Given the description of an element on the screen output the (x, y) to click on. 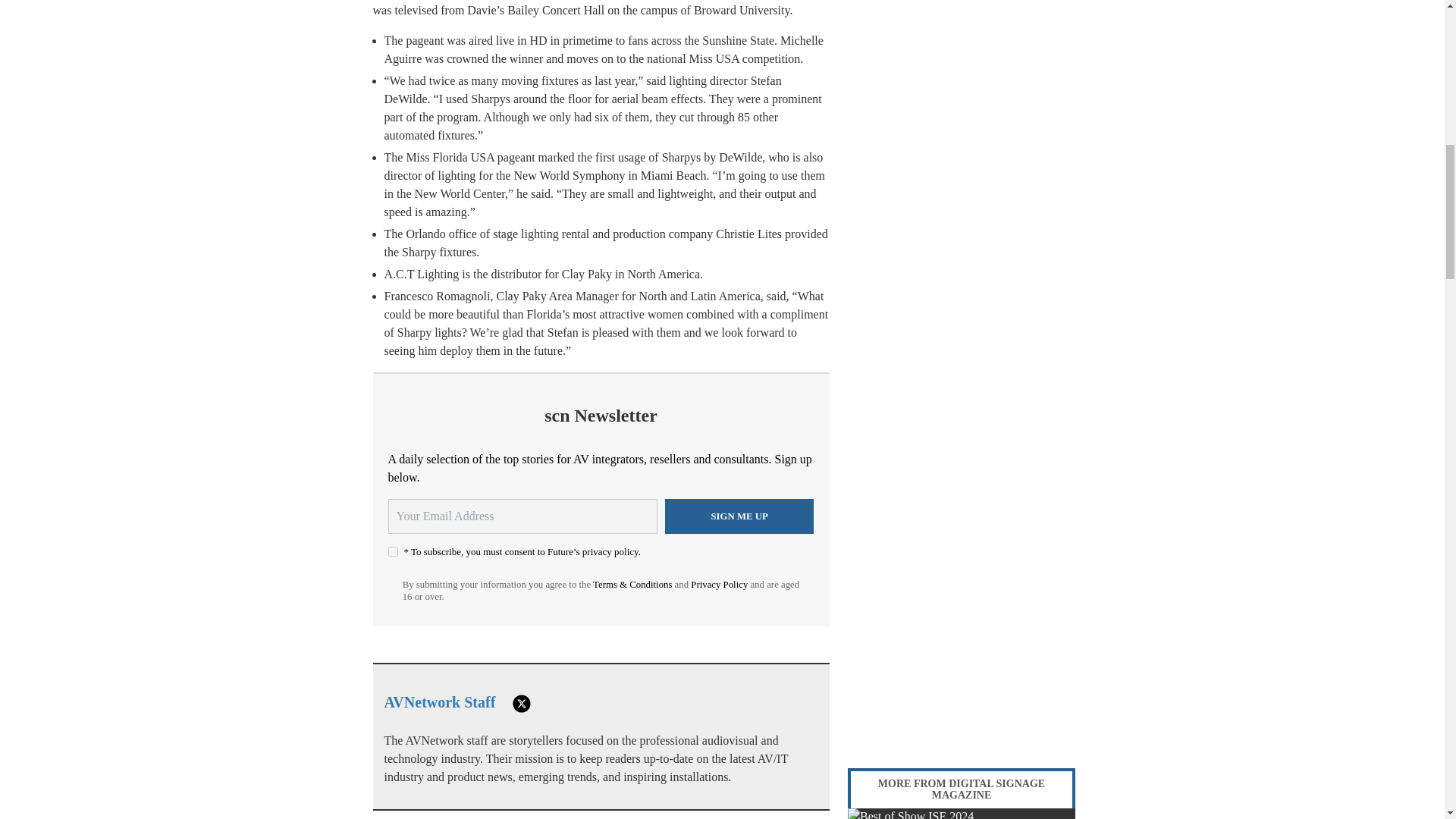
on (392, 551)
Sign me up (739, 515)
AVNetwork Staff (439, 701)
Privacy Policy (719, 584)
ISE Best of Show Winners: Comments from the Judges' Table (961, 813)
Sign me up (739, 515)
